Given the description of an element on the screen output the (x, y) to click on. 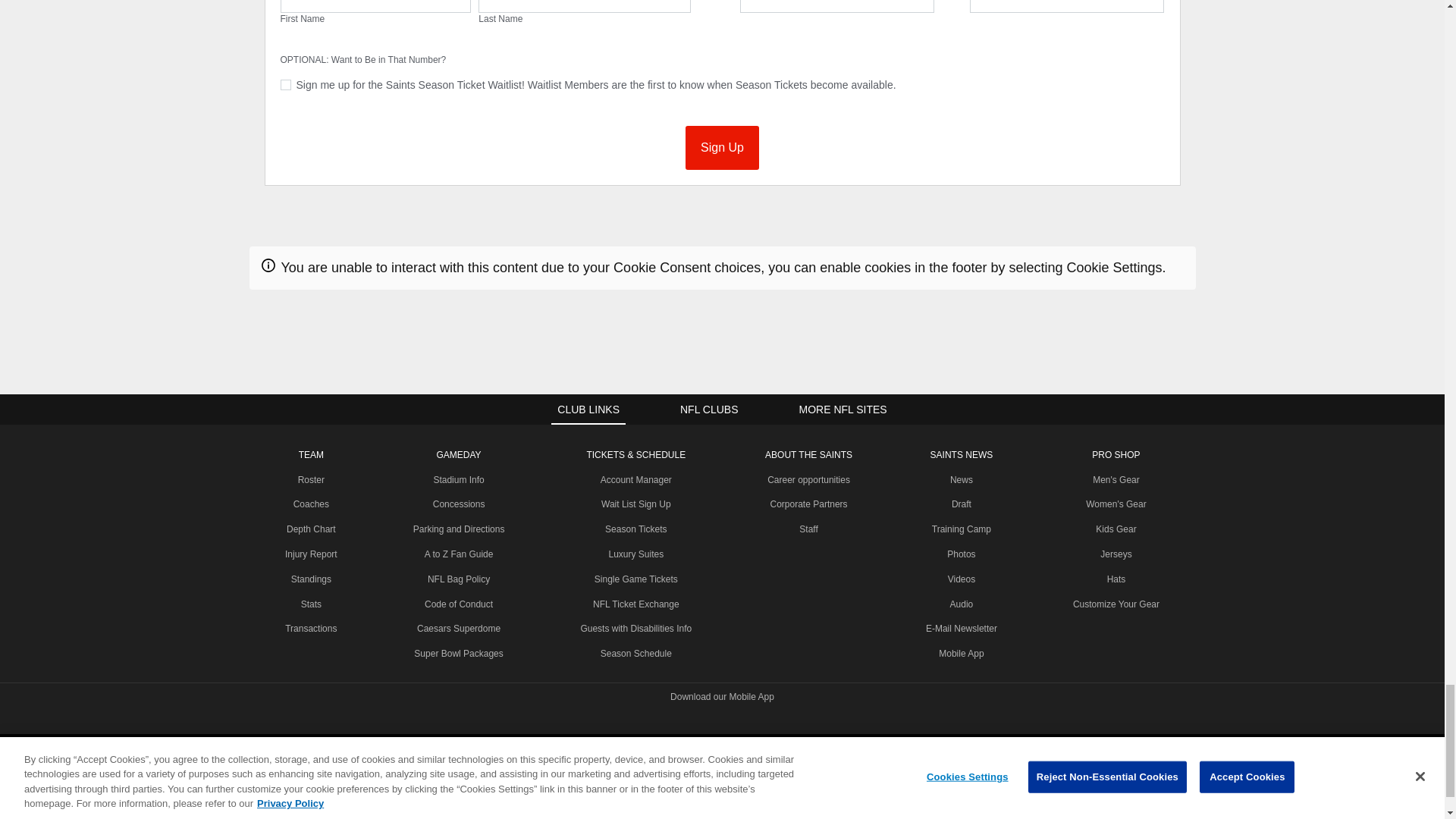
Sign Up (721, 147)
